Given the description of an element on the screen output the (x, y) to click on. 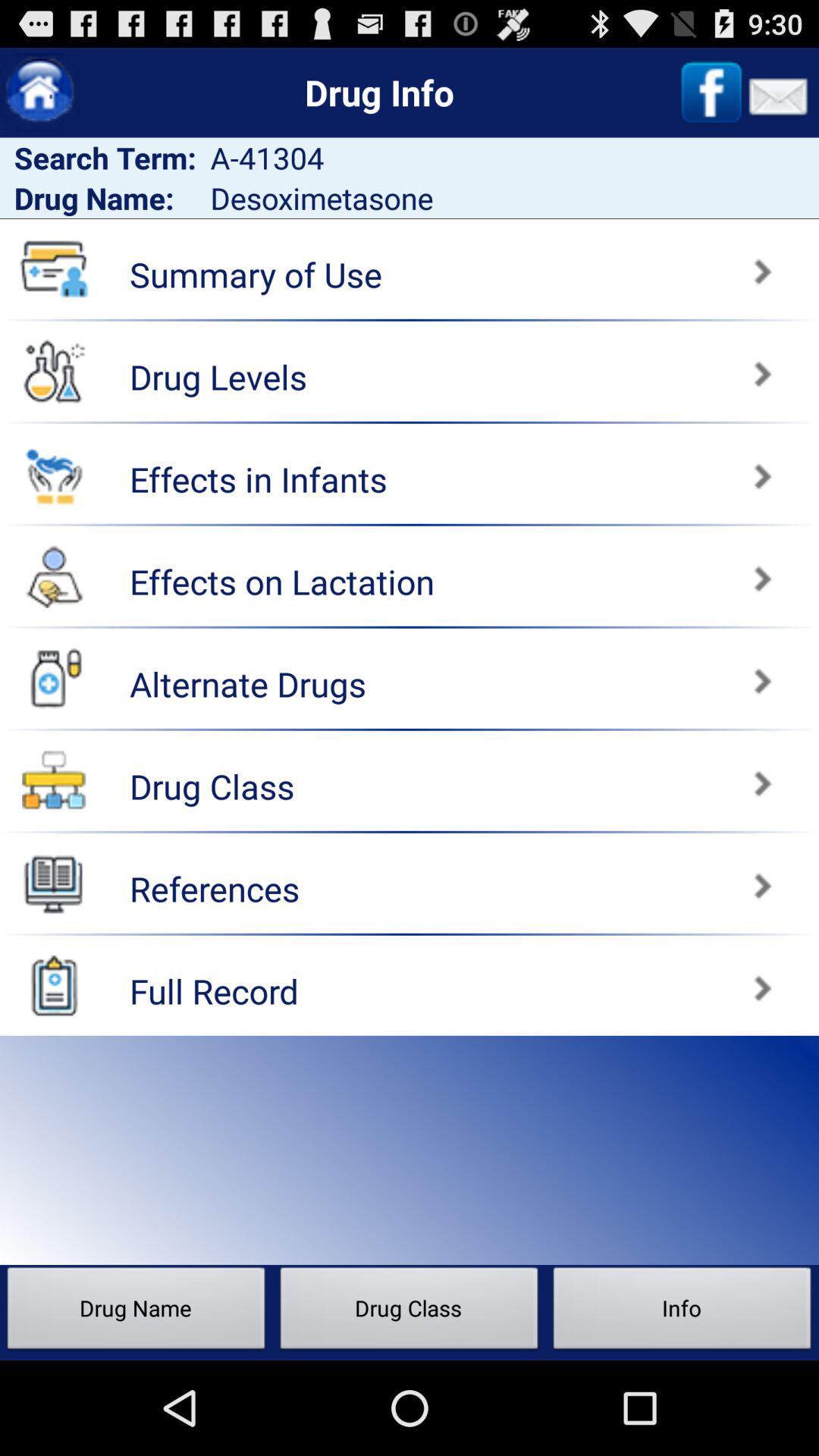
view summary (617, 264)
